Given the description of an element on the screen output the (x, y) to click on. 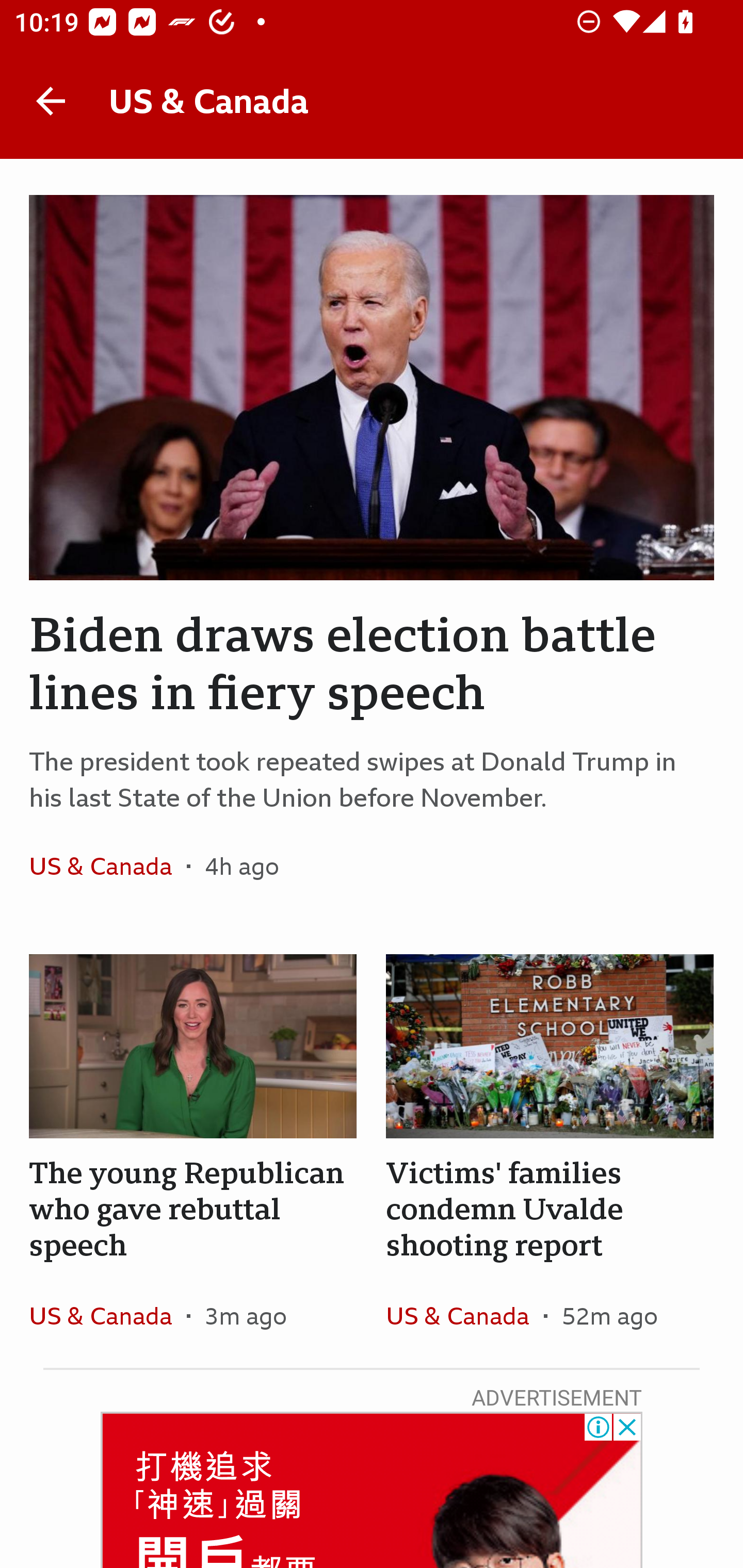
Back (50, 101)
US & Canada In the section US & Canada (107, 865)
US & Canada In the section US & Canada (107, 1315)
US & Canada In the section US & Canada (464, 1315)
